Given the description of an element on the screen output the (x, y) to click on. 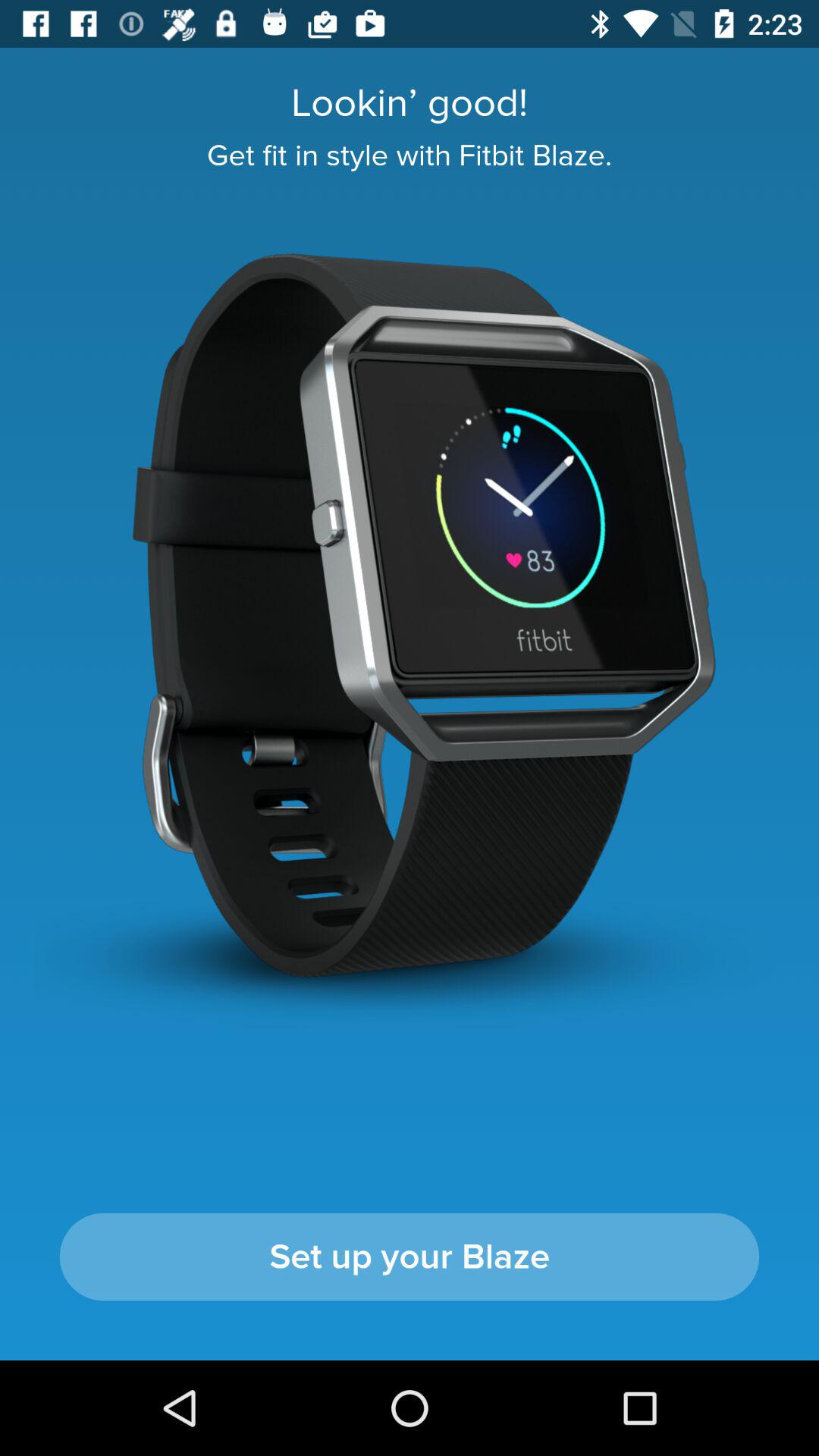
press the set up your item (409, 1256)
